Given the description of an element on the screen output the (x, y) to click on. 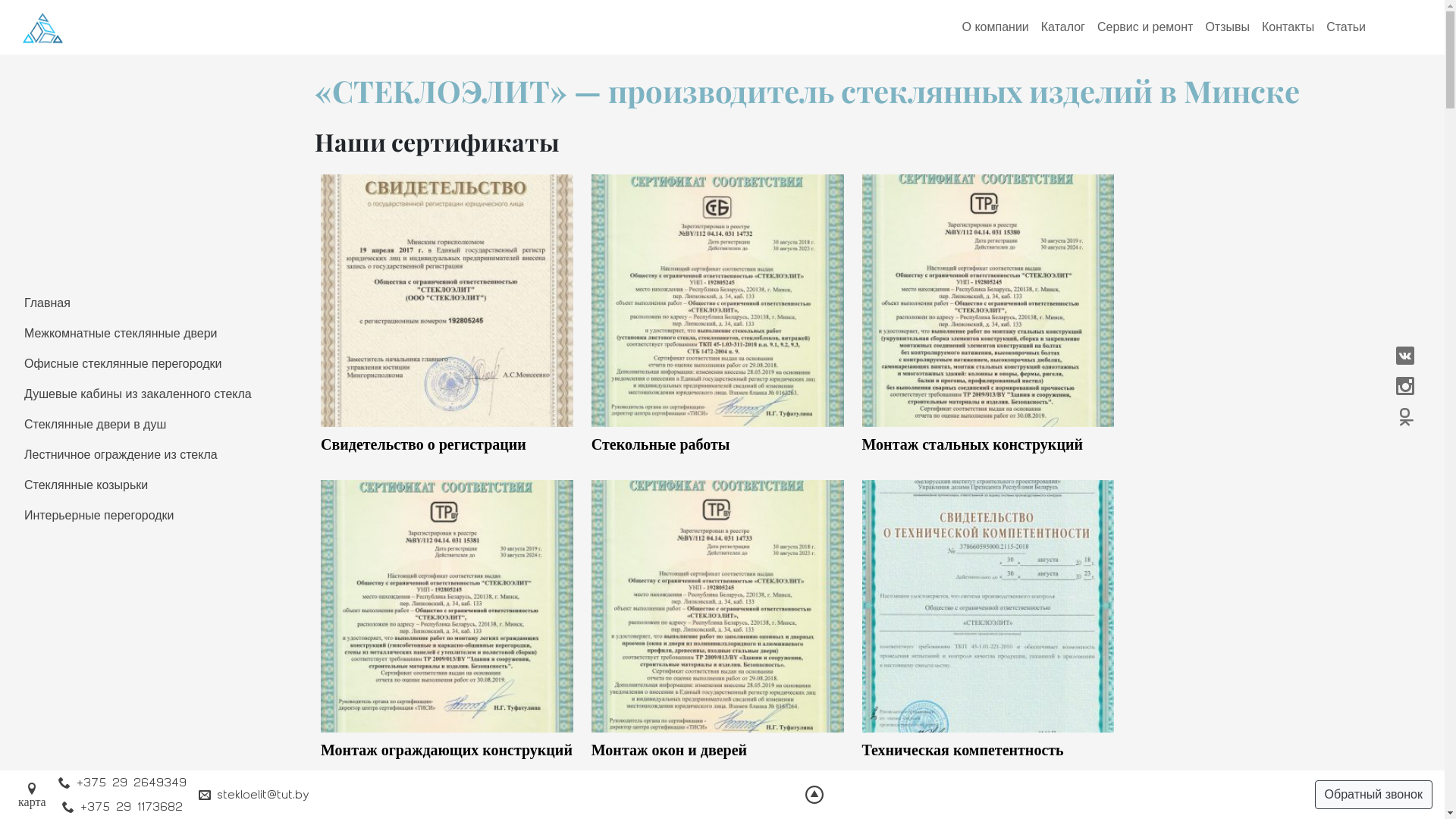
ok Element type: text (1404, 416)
play2 Element type: text (821, 788)
phone +375 29 2649349 Element type: text (122, 782)
instagram Element type: text (1404, 386)
mail stekloelit@tut.by Element type: text (253, 794)
vk Element type: text (1404, 356)
